Given the description of an element on the screen output the (x, y) to click on. 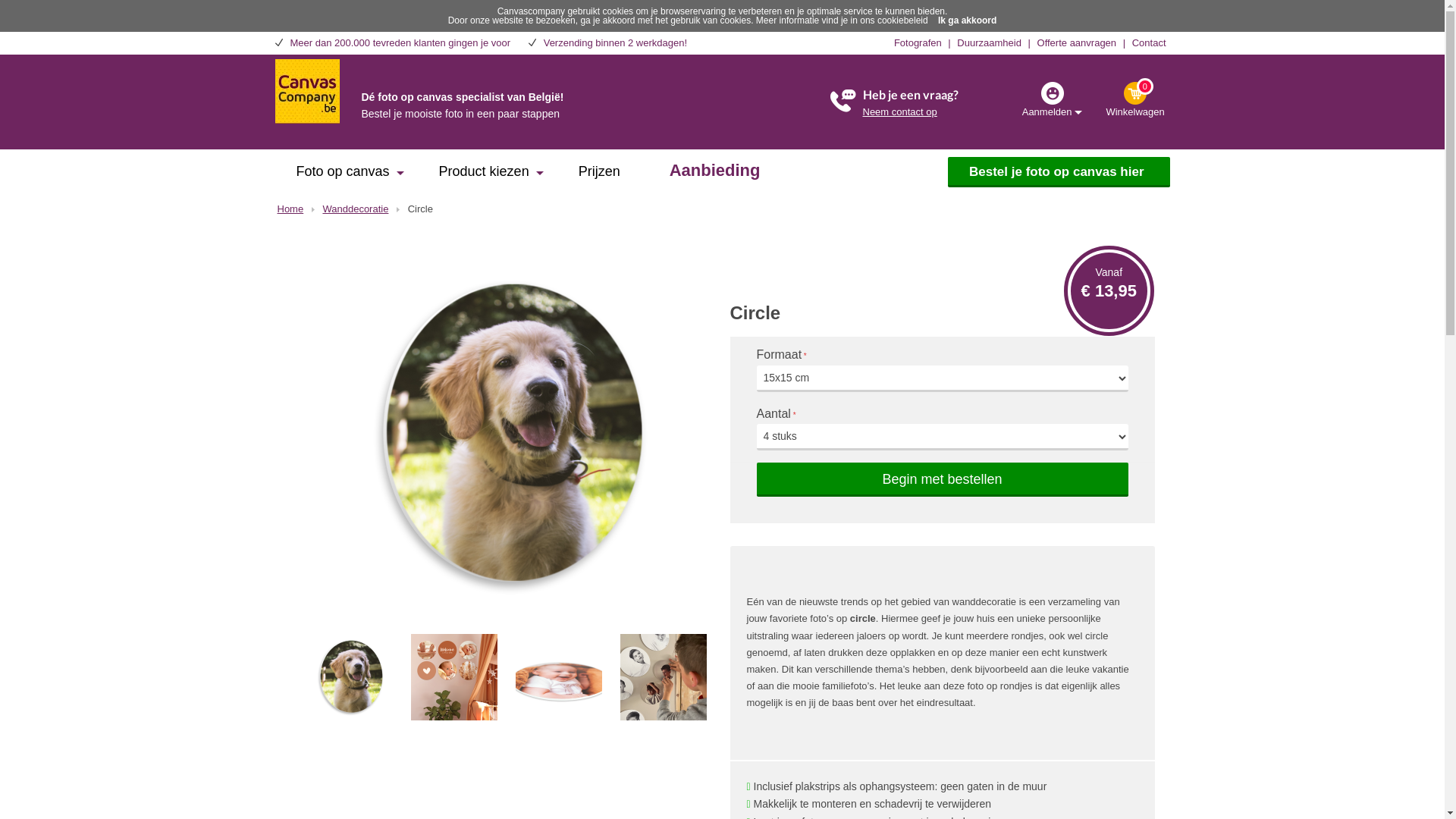
Contact Element type: text (1149, 42)
Aanbieding Element type: text (717, 172)
Begin met bestellen Element type: text (942, 479)
Neem contact op Element type: text (899, 111)
cookiebeleid Element type: text (902, 20)
Wanddecoratie Element type: text (355, 208)
Fotografen Element type: text (917, 42)
Ik ga akkoord Element type: text (967, 20)
Foto op canvas Element type: text (344, 173)
Aanmelden Element type: text (1052, 98)
Prijzen Element type: text (601, 173)
Winkelwagen
0 Element type: text (1134, 98)
Duurzaamheid Element type: text (989, 42)
Offerte aanvragen Element type: text (1077, 42)
Bestel je foto op canvas hier Element type: text (1058, 171)
Home Element type: text (290, 208)
Foto op canvas van CanvasCompany Element type: hover (306, 88)
Product kiezen Element type: text (486, 173)
